Given the description of an element on the screen output the (x, y) to click on. 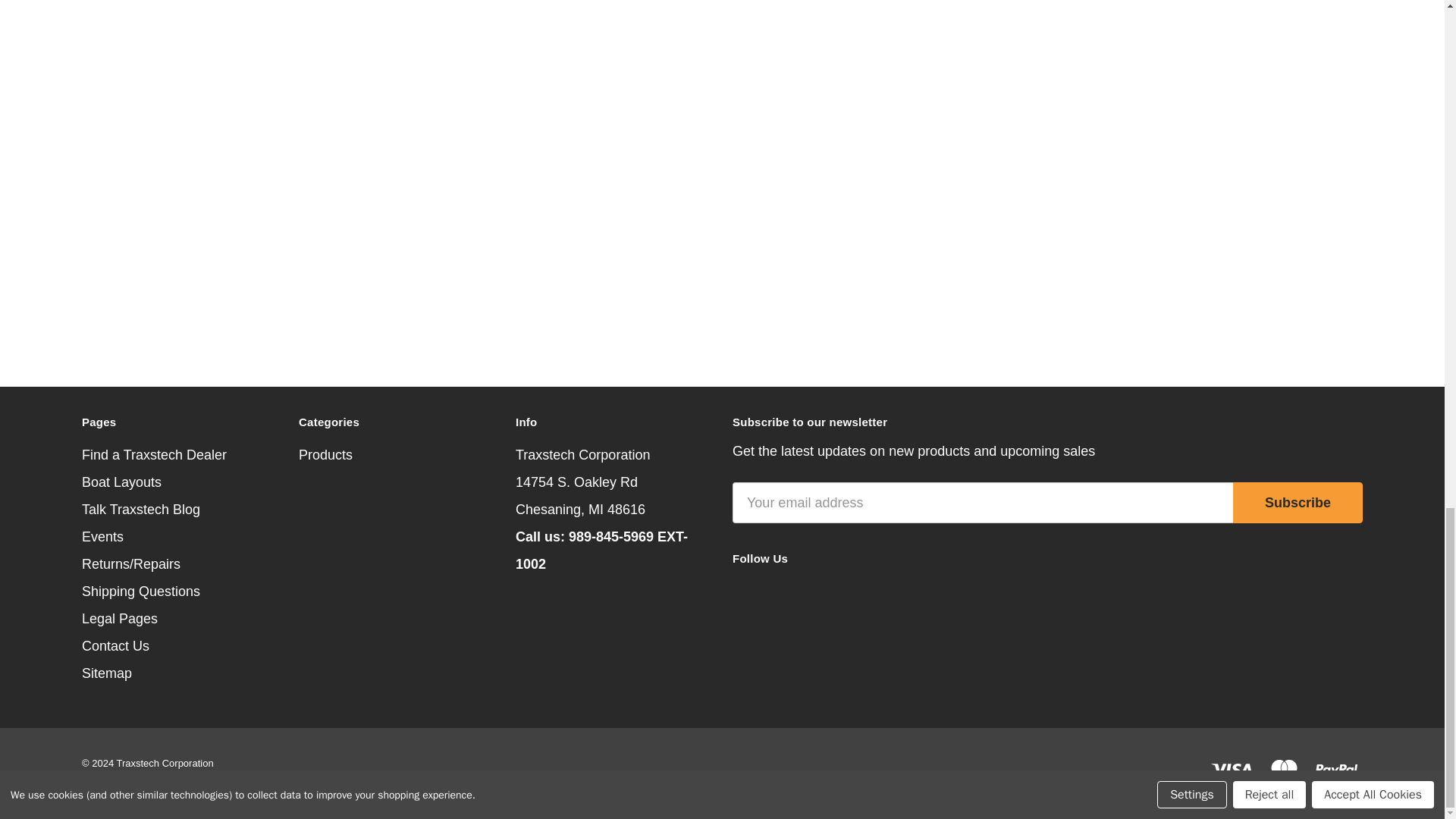
Subscribe (1297, 502)
